Given the description of an element on the screen output the (x, y) to click on. 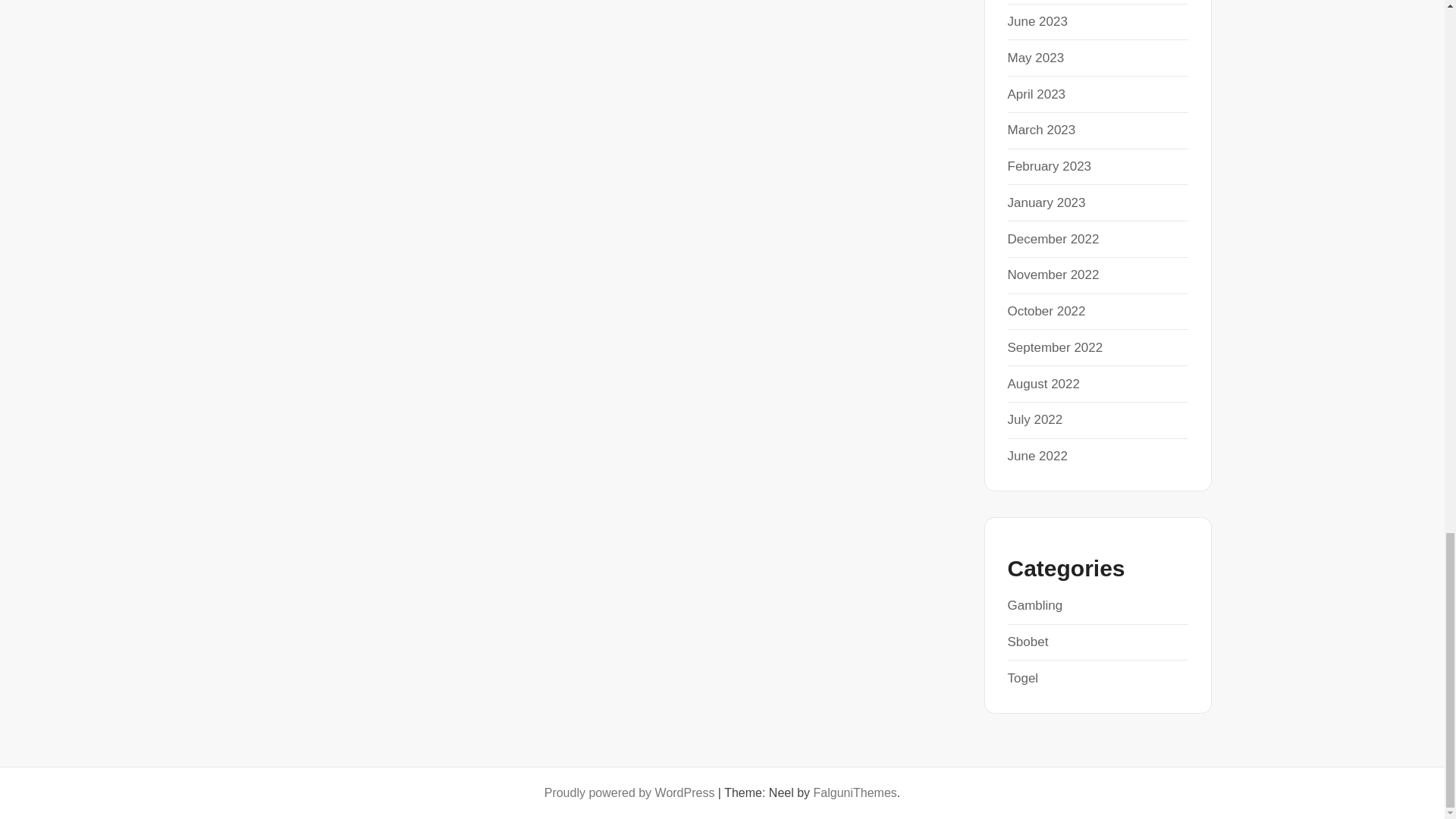
June 2023 (1037, 21)
April 2023 (1036, 93)
May 2023 (1035, 57)
March 2023 (1041, 129)
